Given the description of an element on the screen output the (x, y) to click on. 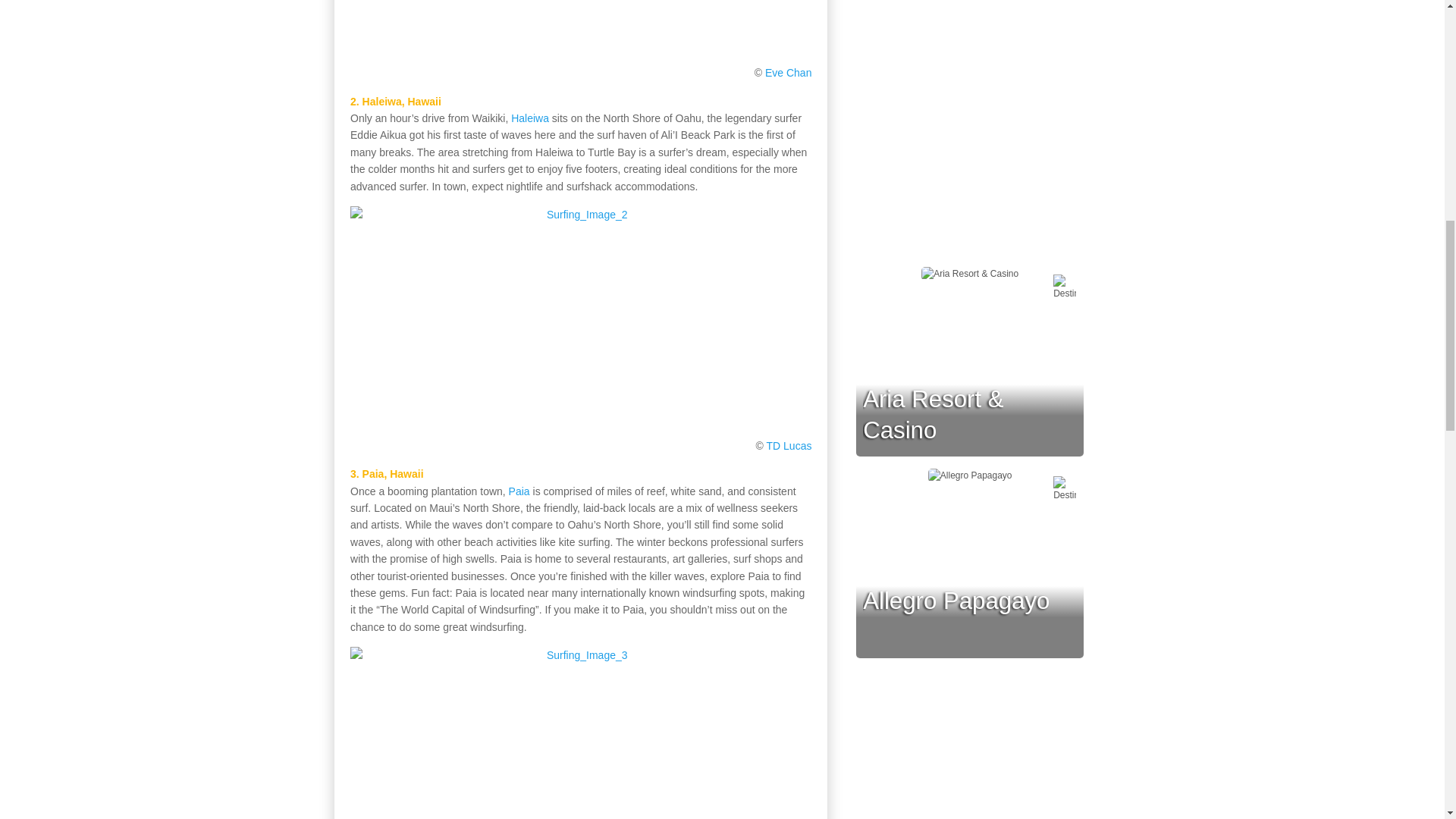
3. Paia, Hawaii (386, 473)
Allegro Papagayo (956, 601)
2. Haleiwa, Hawaii (395, 101)
Eve Chan (787, 72)
Allegro Papagayo (956, 601)
Haleiwa (529, 118)
TD Lucas (789, 445)
Paia (518, 491)
